Given the description of an element on the screen output the (x, y) to click on. 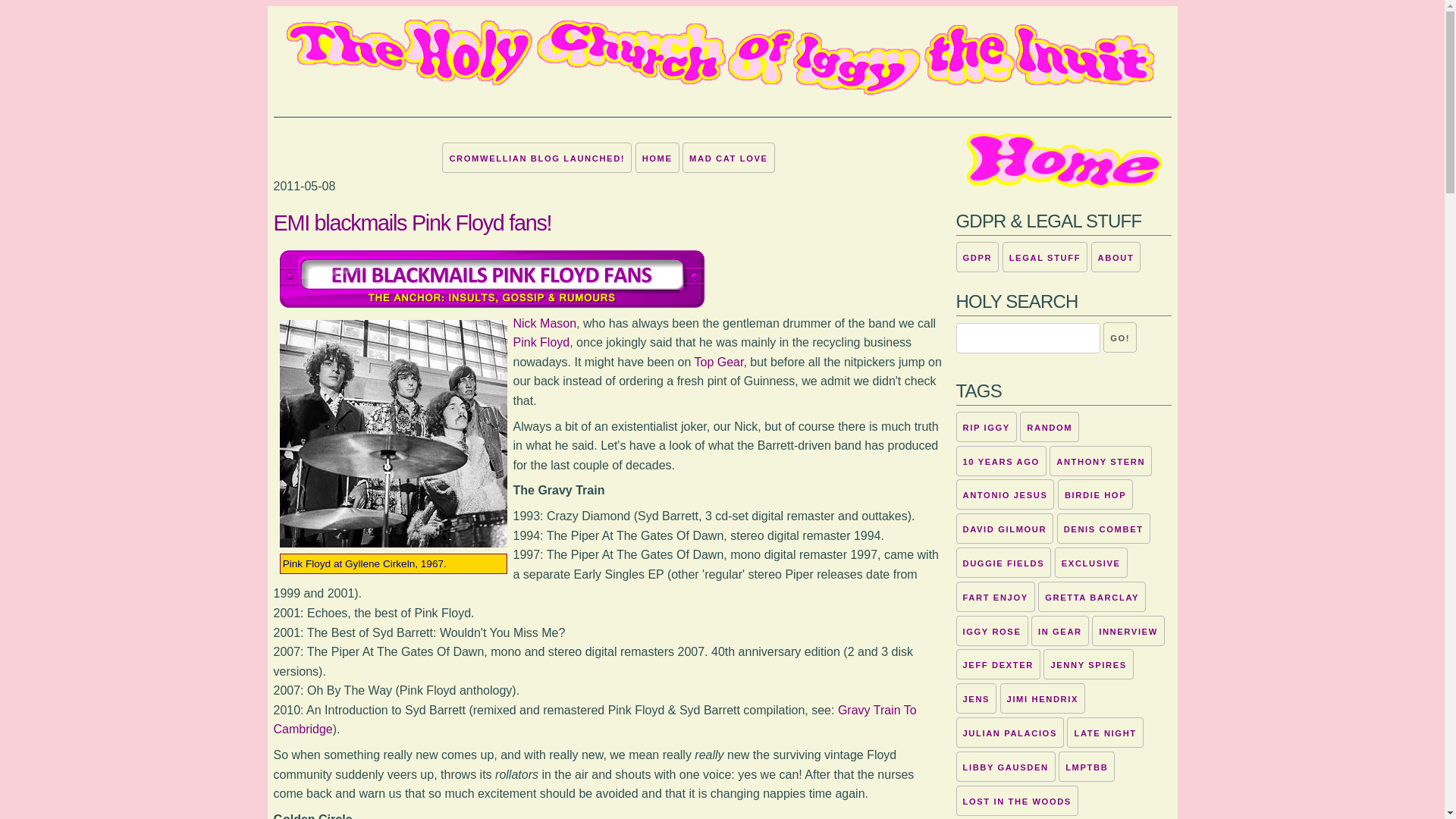
MAD CAT LOVE (728, 157)
Gravy Train To Cambridge (594, 719)
RANDOM (1049, 426)
RIP IGGY (985, 426)
LEGAL STUFF (1045, 256)
Pink Floyd (540, 341)
ANTONIO JESUS (1004, 494)
GDPR (976, 256)
Nick Mason on Top Gear (718, 361)
Nick Mason (544, 323)
